Given the description of an element on the screen output the (x, y) to click on. 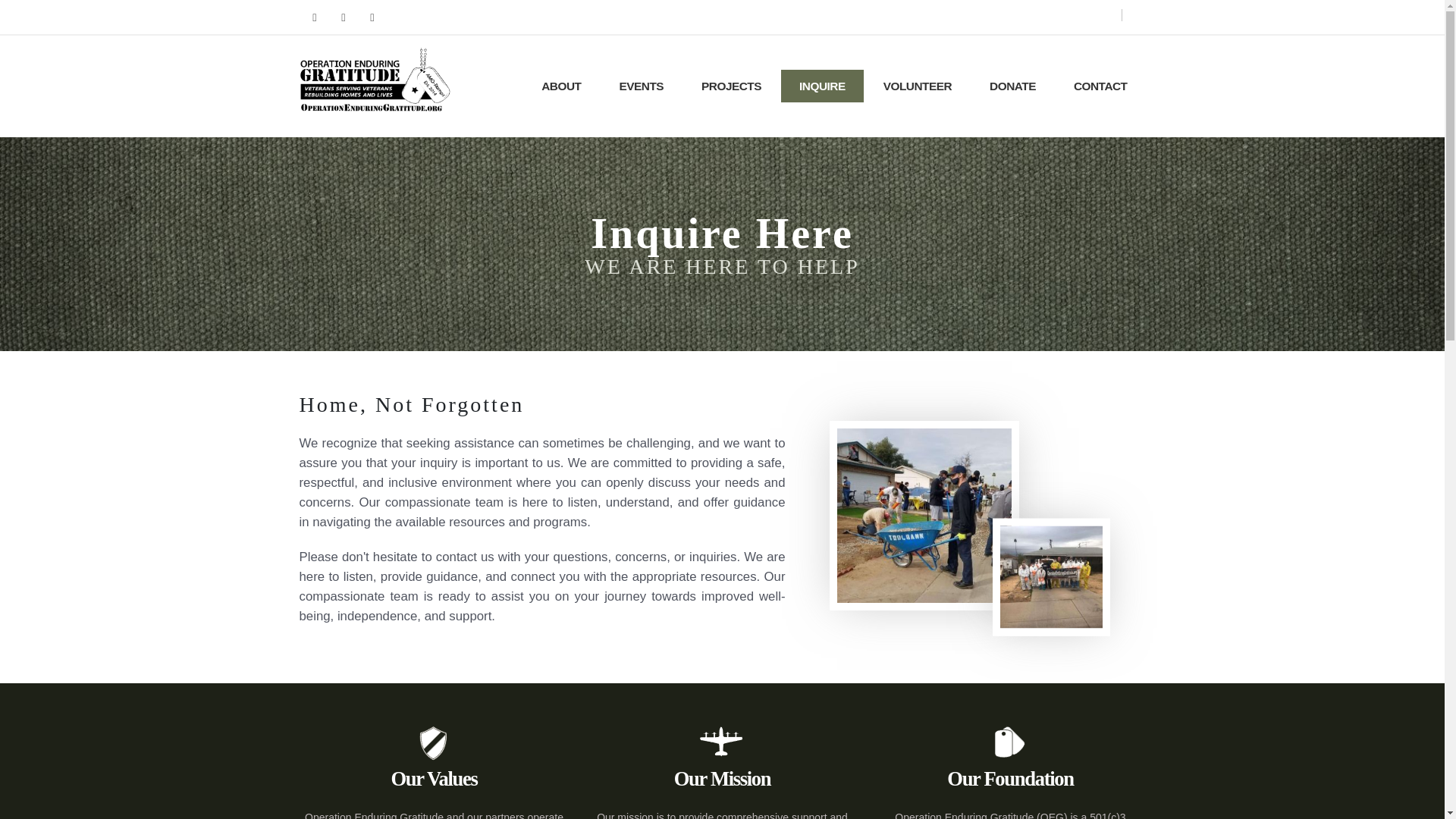
EVENTS (640, 85)
YouTube (313, 17)
Facebook (371, 17)
ABOUT (560, 85)
Instagram (342, 17)
PROJECTS (730, 85)
INQUIRE (821, 85)
VOLUNTEER (916, 85)
CONTACT (1100, 85)
DONATE (1012, 85)
